Given the description of an element on the screen output the (x, y) to click on. 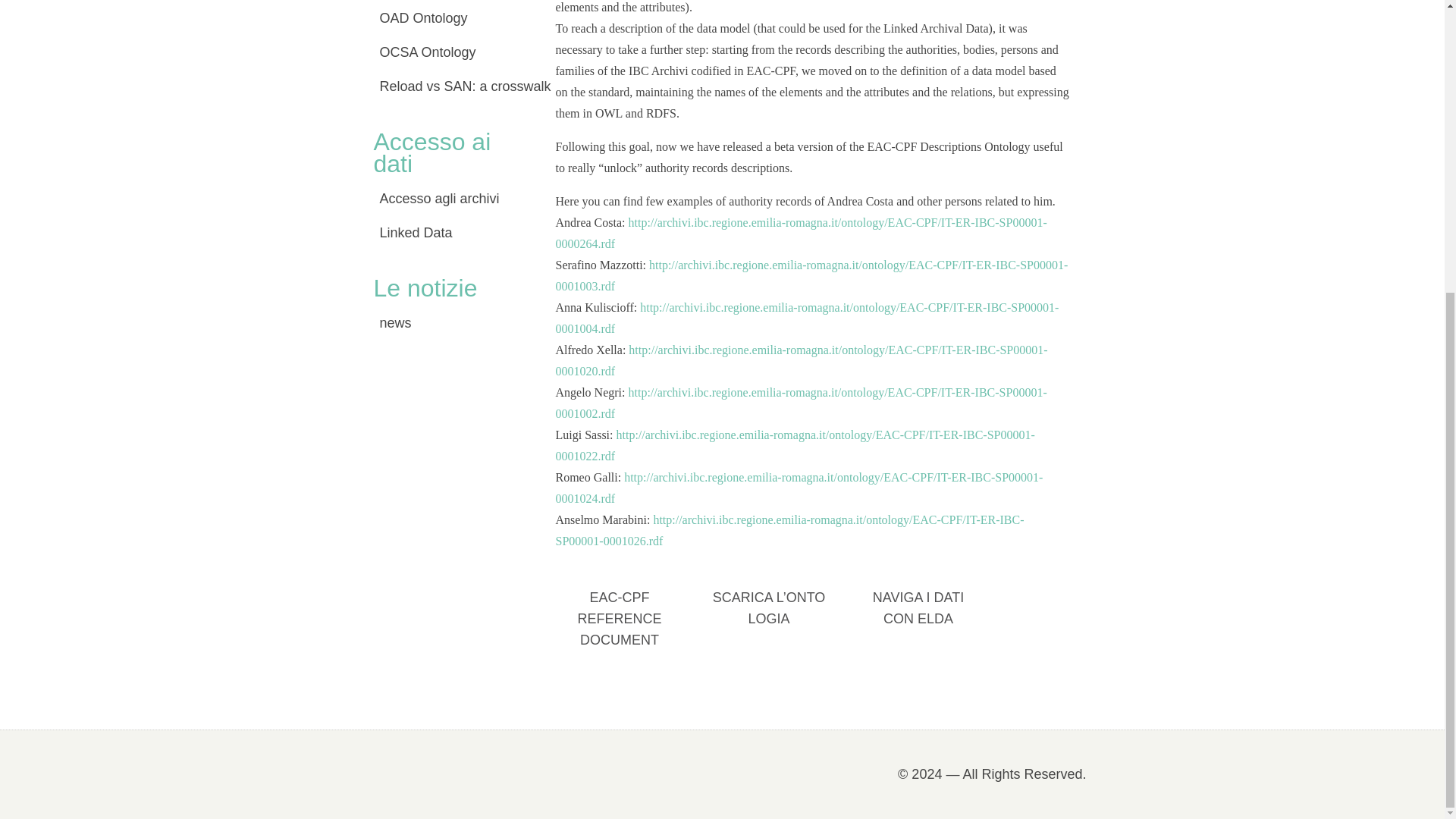
OCSA Ontology (448, 53)
EAC-CPF reference document (616, 625)
NAVIGA I DATI CON ELDA (914, 625)
Reload vs SAN: a crosswalk (448, 87)
Naviga i dati con ELDA (914, 625)
Linked Data (448, 233)
EAC-CPF REFERENCE DOCUMENT (616, 625)
OAD Ontology (448, 18)
Accesso agli archivi (448, 199)
